Given the description of an element on the screen output the (x, y) to click on. 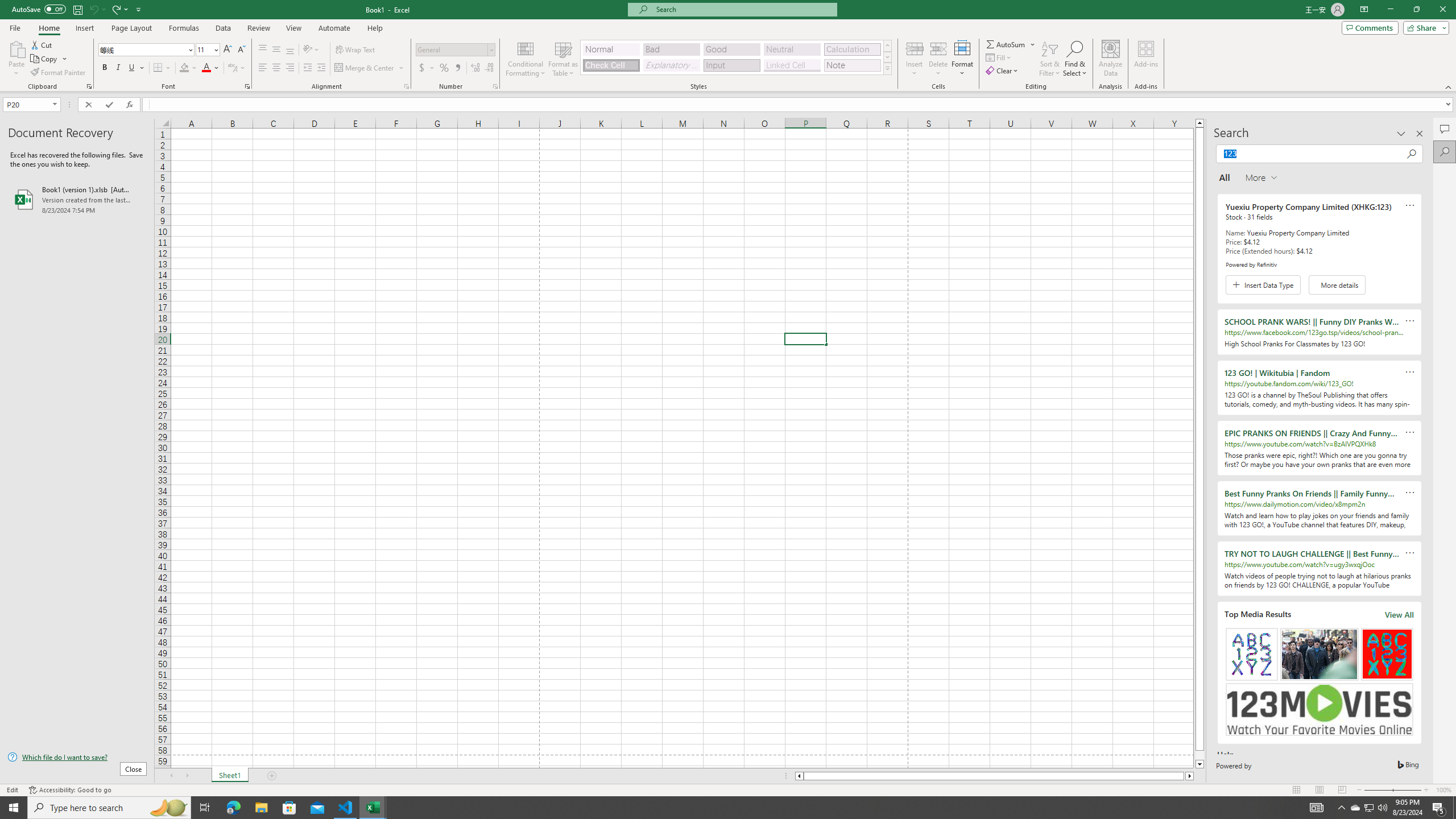
Zoom Out (1377, 790)
Check Cell (611, 65)
Quick Access Toolbar (77, 9)
Increase Decimal (474, 67)
Insert (914, 58)
Font Size (207, 49)
Scroll Right (187, 775)
Redo (119, 9)
Zoom (1392, 790)
Normal (611, 49)
Decrease Font Size (240, 49)
Line down (1199, 764)
File Tab (15, 27)
Help (374, 28)
Bottom Border (157, 67)
